Given the description of an element on the screen output the (x, y) to click on. 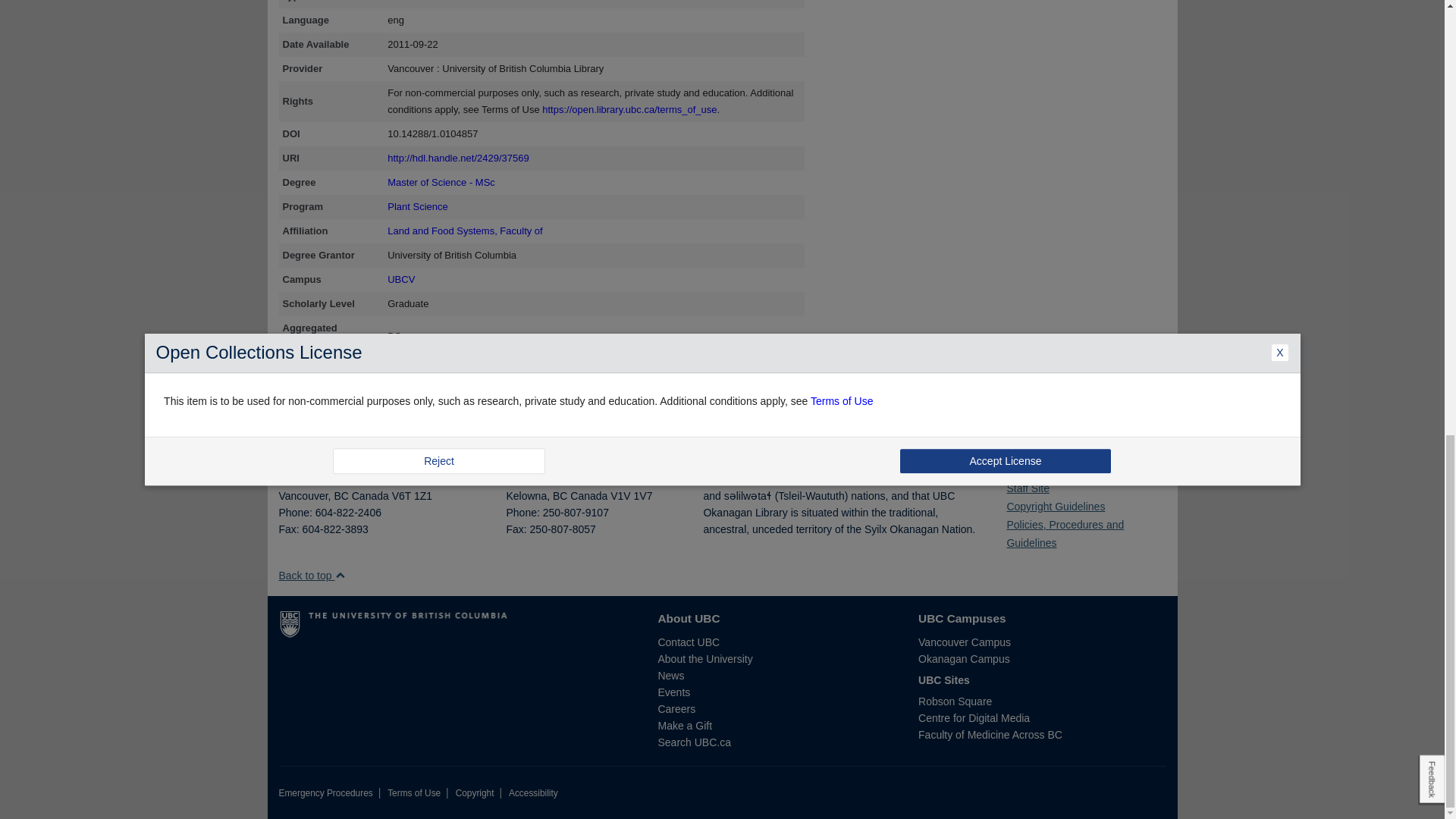
British Columbia (340, 495)
Twitter icon (1021, 466)
Instagram icon (1031, 466)
British Columbia (560, 495)
Facebook icon (1010, 466)
Youtube icon (1041, 466)
